Given the description of an element on the screen output the (x, y) to click on. 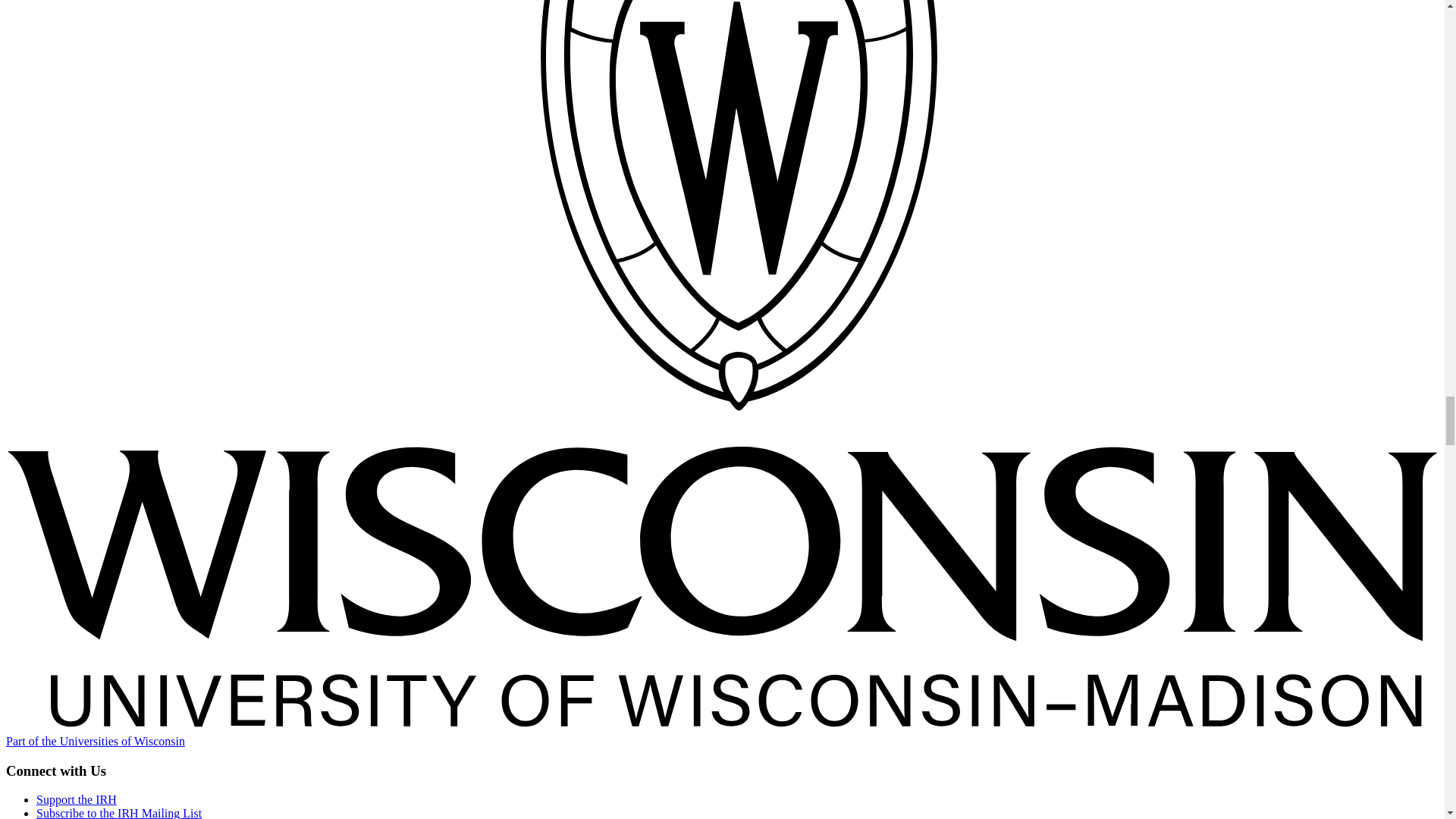
Part of the Universities of Wisconsin (94, 740)
Support the IRH (76, 799)
Subscribe to the IRH Mailing List (119, 812)
